Given the description of an element on the screen output the (x, y) to click on. 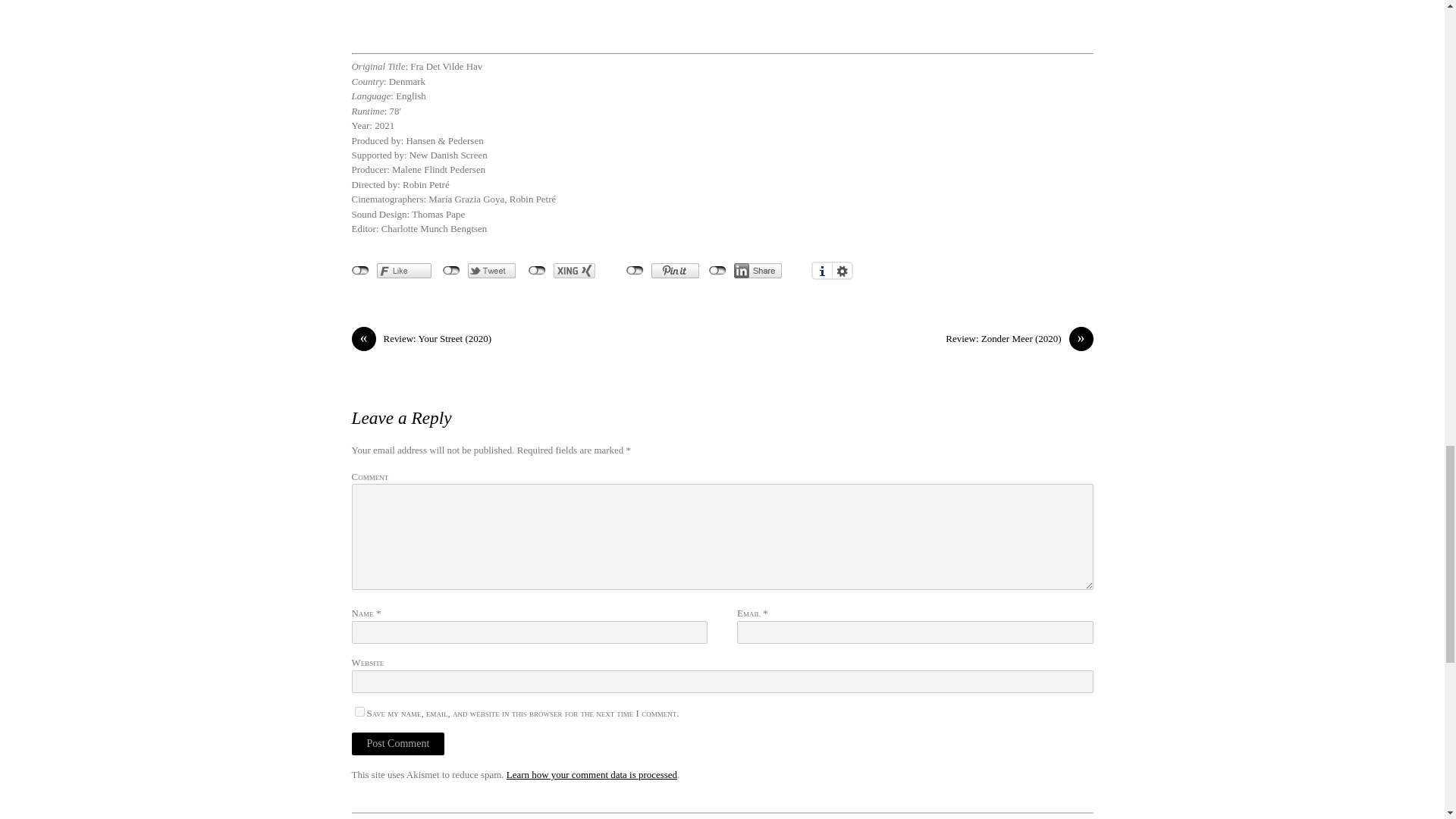
Post Comment (398, 743)
yes (360, 711)
